Given the description of an element on the screen output the (x, y) to click on. 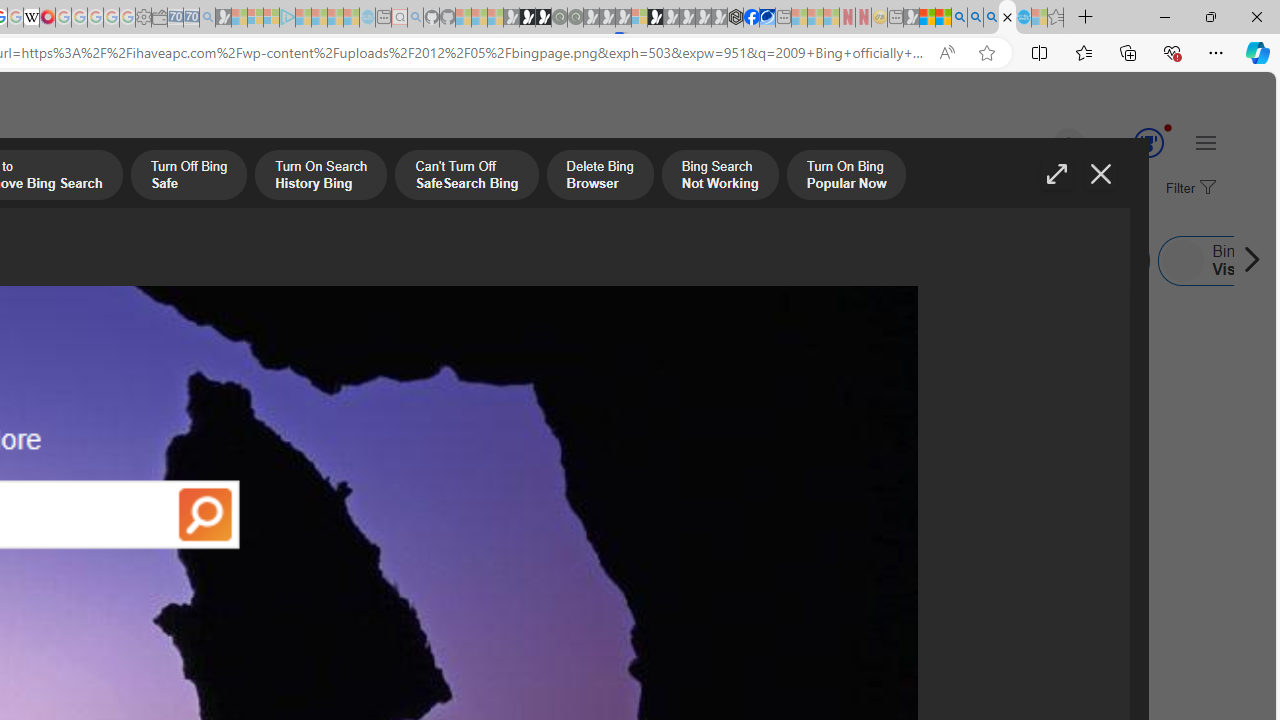
MSN Homepage Bing Search Engine (151, 260)
Future Focus Report 2024 - Sleeping (575, 17)
Bing Image Search Similar Images (292, 260)
Filter (1188, 189)
Full screen (1055, 173)
